Given the description of an element on the screen output the (x, y) to click on. 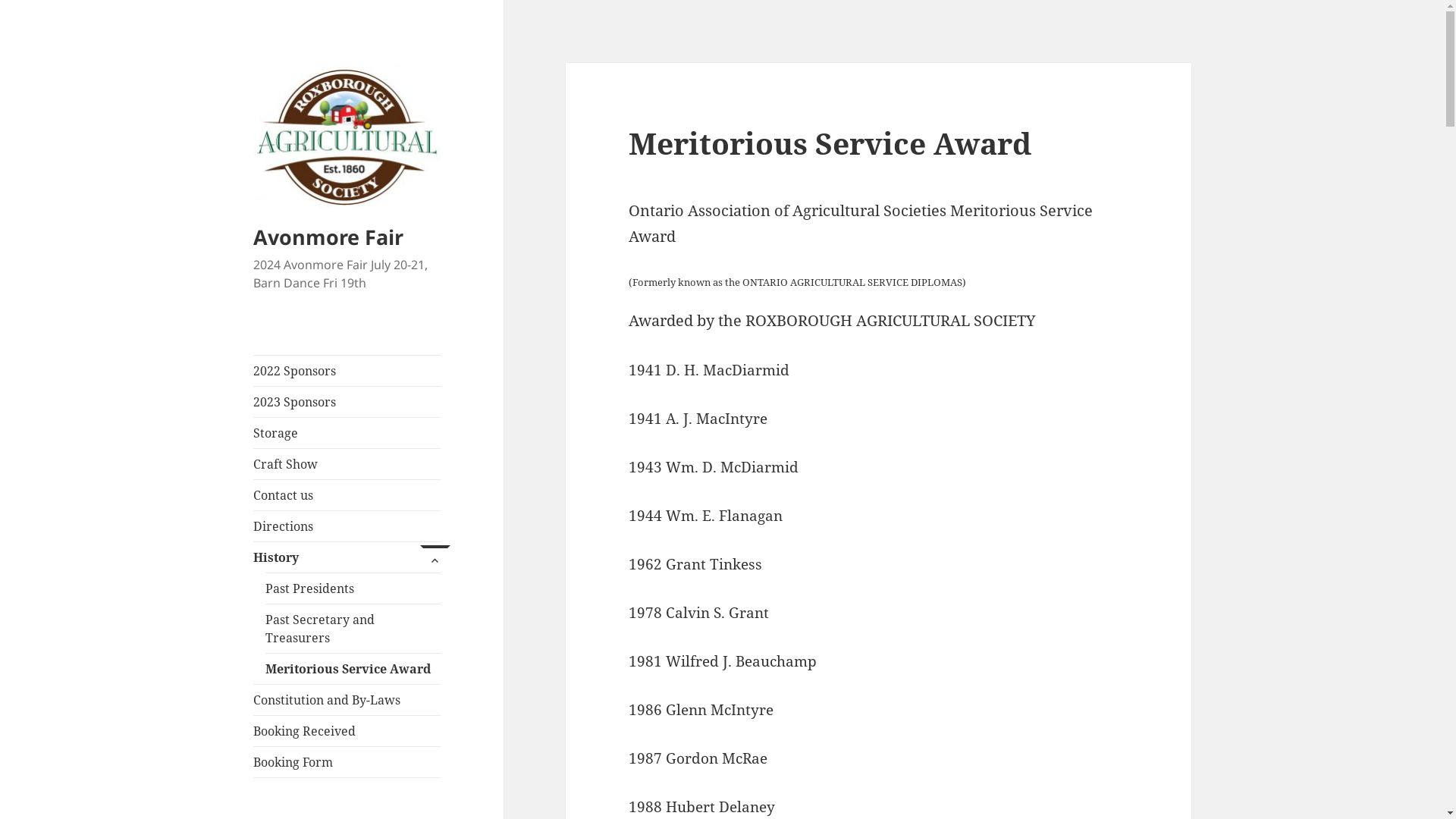
Past Secretary and Treasurers Element type: text (353, 628)
Past Presidents Element type: text (353, 588)
2022 Sponsors Element type: text (347, 370)
2023 Sponsors Element type: text (347, 401)
Meritorious Service Award Element type: text (353, 668)
History Element type: text (347, 557)
Constitution and By-Laws Element type: text (347, 699)
Contact us Element type: text (347, 495)
Directions Element type: text (347, 526)
Booking Form Element type: text (347, 761)
Booking Received Element type: text (347, 730)
Storage Element type: text (347, 432)
Craft Show Element type: text (347, 463)
expand child menu Element type: text (428, 557)
Avonmore Fair Element type: text (328, 236)
